Given the description of an element on the screen output the (x, y) to click on. 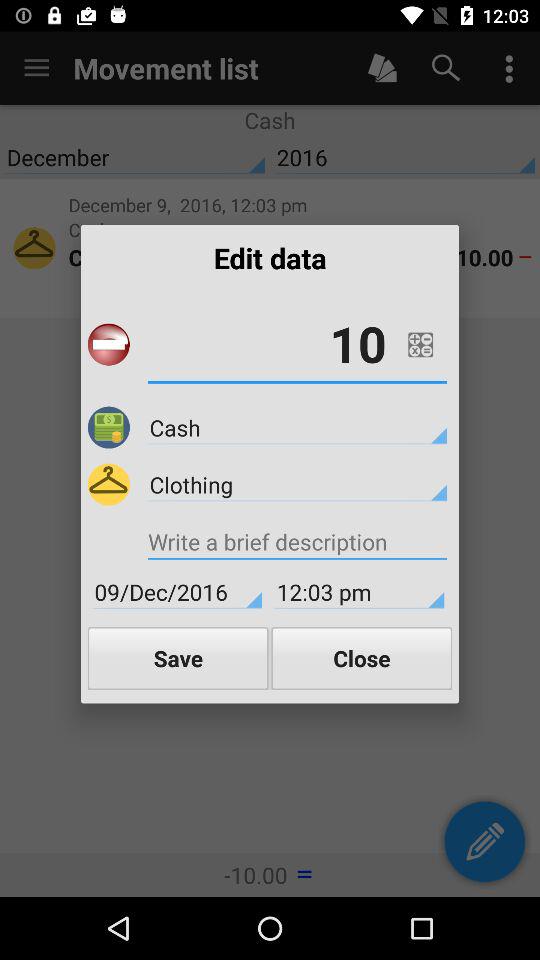
open the icon next to save icon (361, 658)
